Given the description of an element on the screen output the (x, y) to click on. 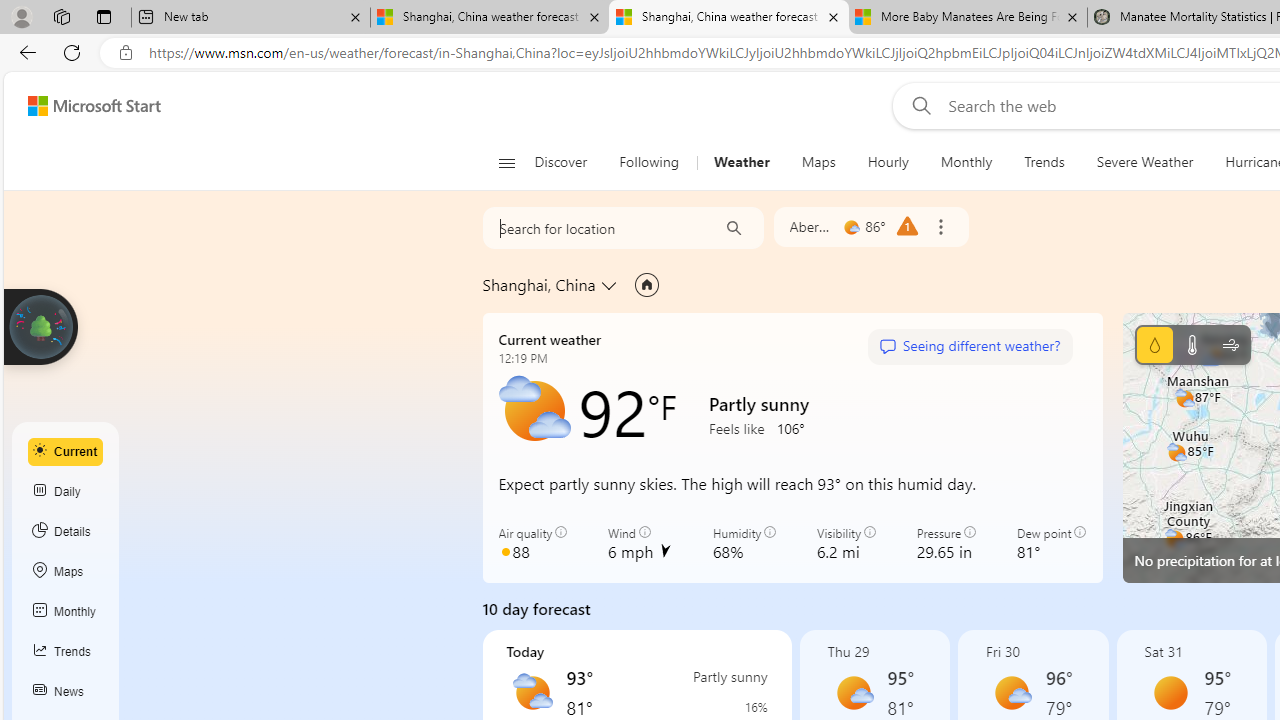
New tab (250, 17)
Sunny (1169, 692)
Hourly (887, 162)
Following (649, 162)
Severe Weather (1144, 162)
Weather (741, 162)
Search for location (594, 227)
Wind 6 mph (639, 543)
Skip to content (86, 105)
View site information (125, 53)
Join us in planting real trees to help our planet! (40, 327)
Monthly (966, 162)
Trends (1044, 162)
